Given the description of an element on the screen output the (x, y) to click on. 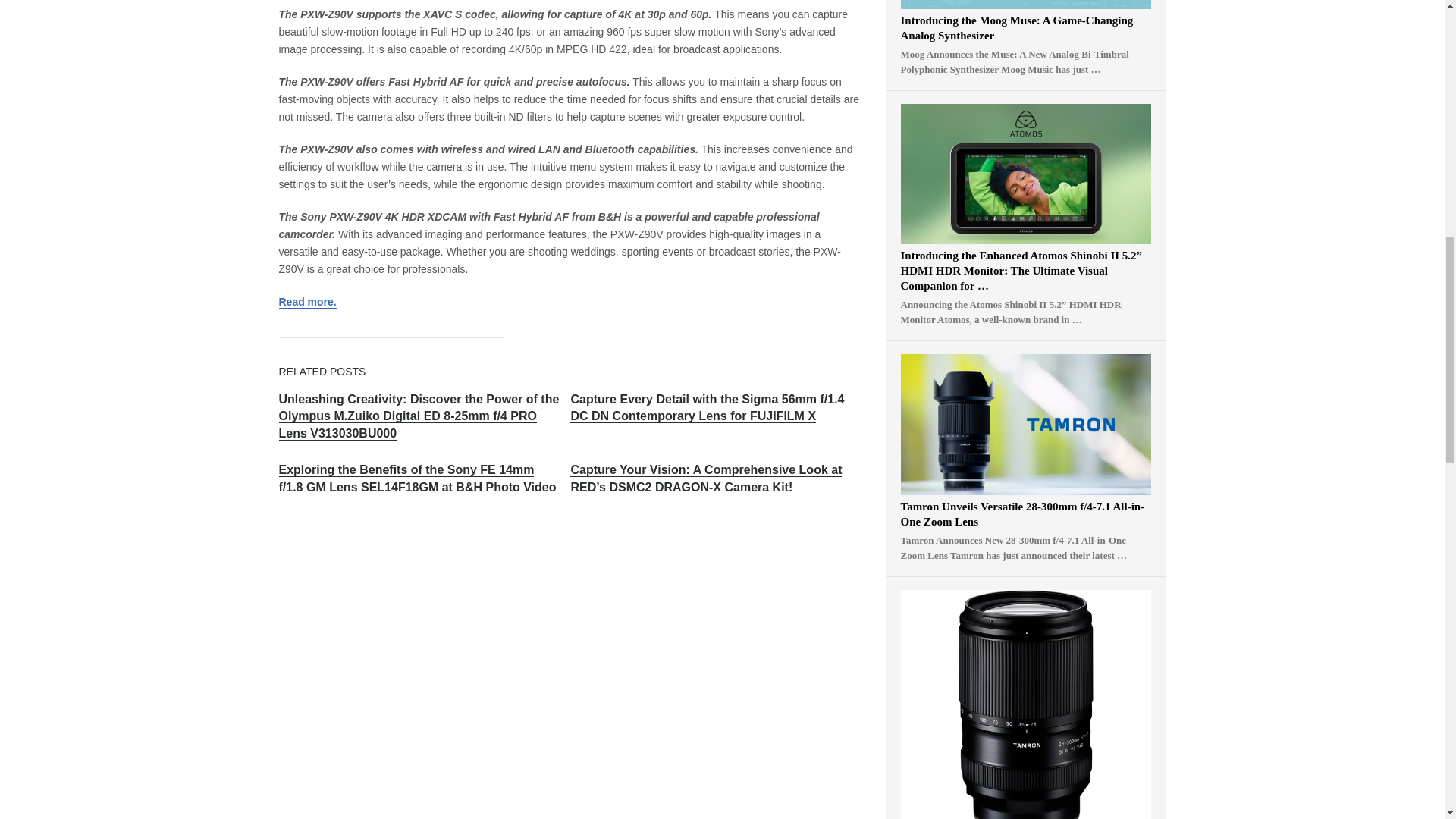
Read more. (307, 301)
